Given the description of an element on the screen output the (x, y) to click on. 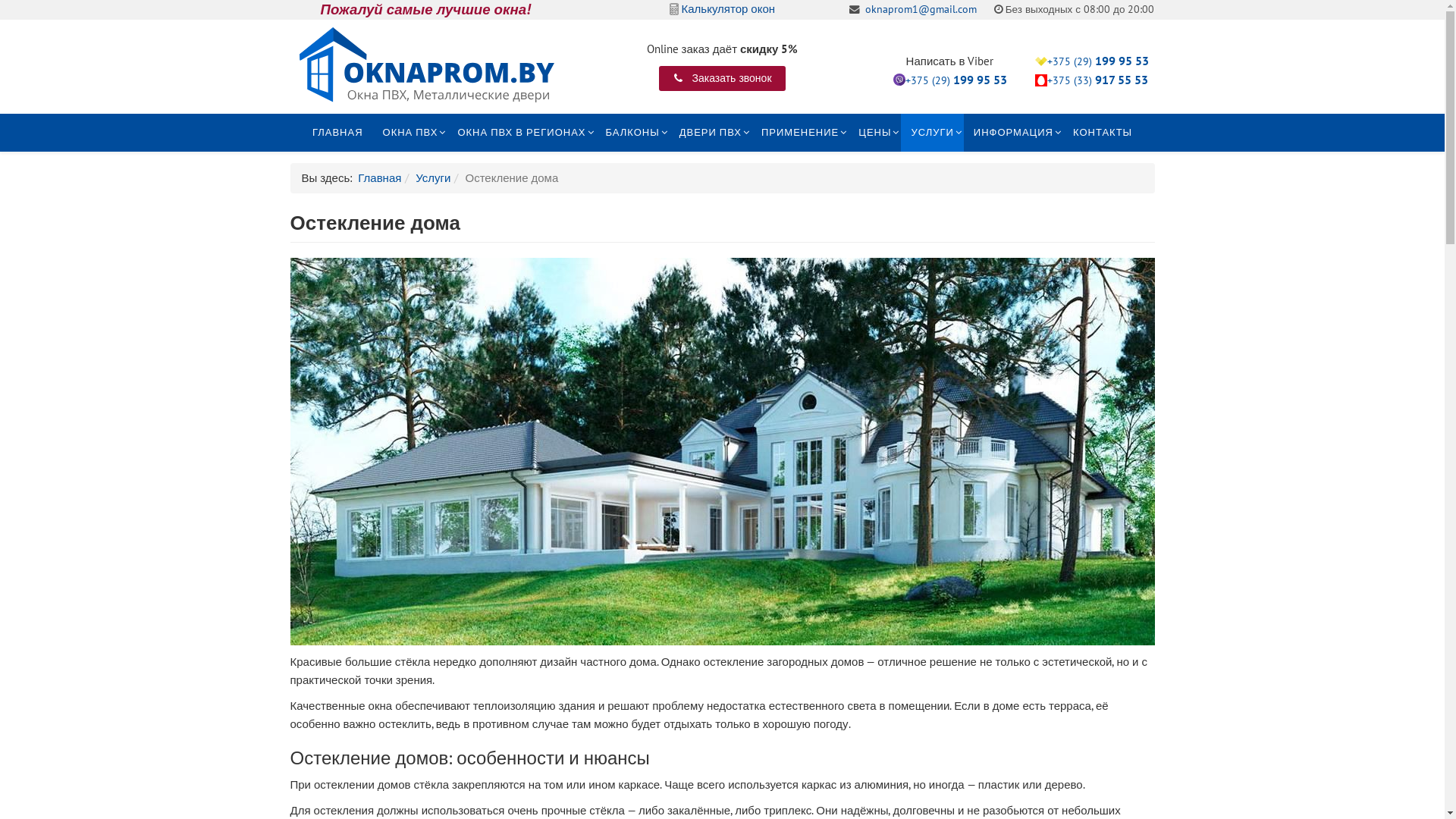
+375 (29) 199 95 53 Element type: text (956, 79)
oknaprom1@gmail.com Element type: text (920, 8)
+375 (29) 199 95 53 Element type: text (1097, 60)
+375 (33) 917 55 53 Element type: text (1097, 79)
